Given the description of an element on the screen output the (x, y) to click on. 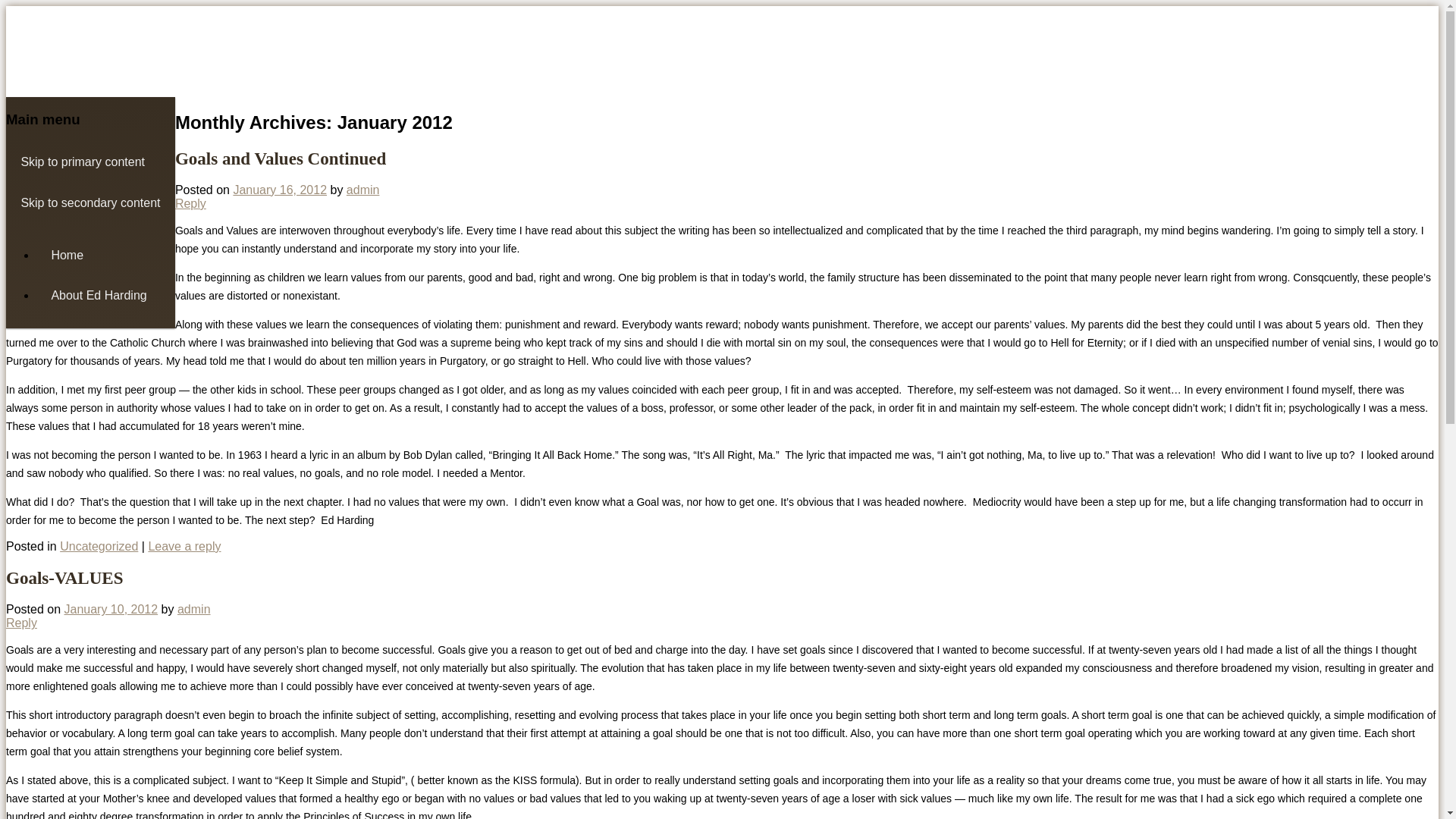
Reply (190, 203)
7:06 pm (110, 608)
About Ed Harding (105, 295)
Skip to primary content (89, 161)
Goals and Values Continued (279, 158)
Comment on Goals and Values Continued (190, 203)
View all posts by admin (363, 189)
Comment on Goals-VALUES (21, 622)
Home (105, 255)
Comment on Goals and Values Continued (184, 545)
Reply (21, 622)
Uncategorized (98, 545)
Skip to secondary content (89, 202)
admin (194, 608)
January 10, 2012 (110, 608)
